Given the description of an element on the screen output the (x, y) to click on. 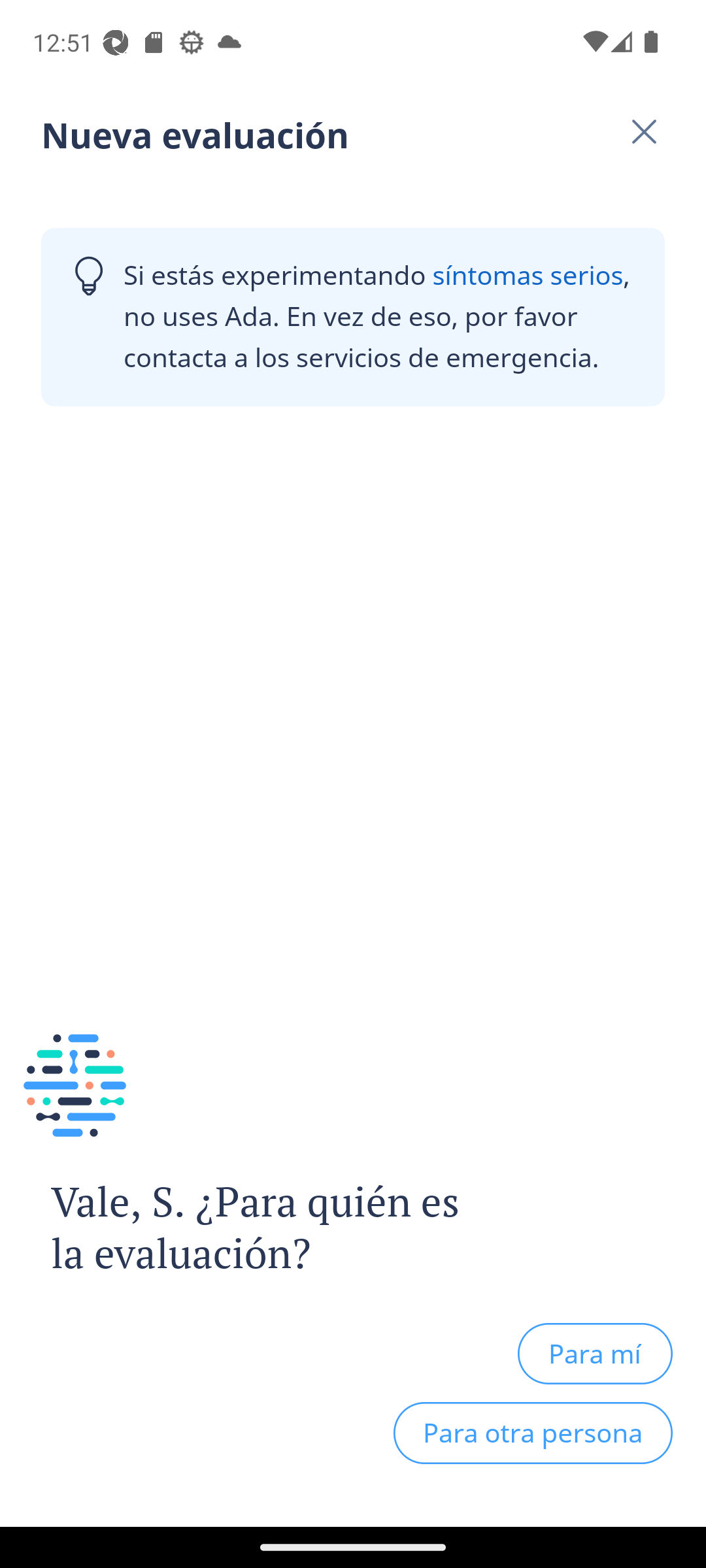
Vale, S. ¿Para quién es la evaluación? (240, 1227)
Para mí (594, 1352)
Para otra persona (532, 1432)
